Given the description of an element on the screen output the (x, y) to click on. 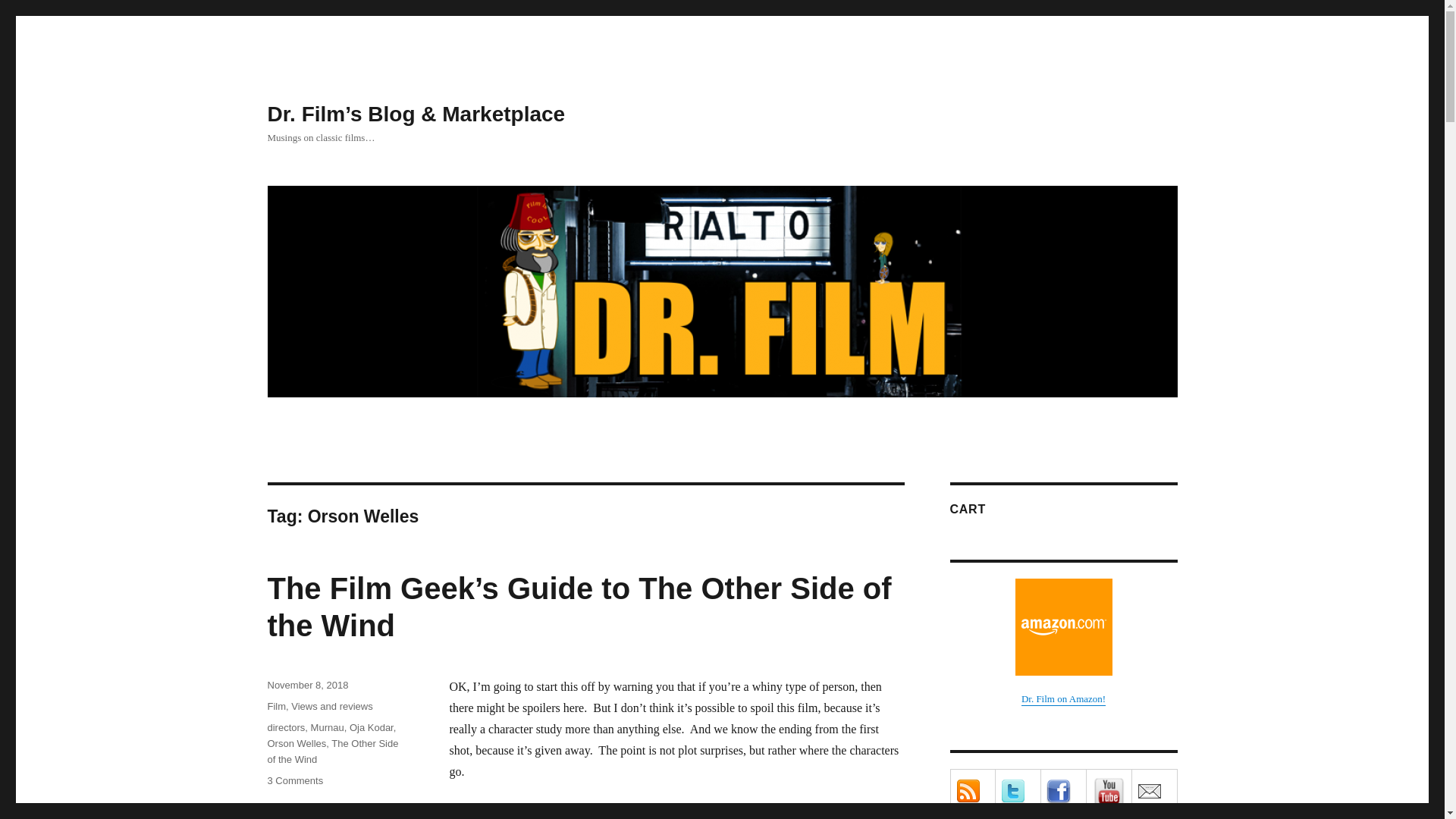
Oja Kodar (371, 727)
Dr. Film on Amazon! (1062, 641)
November 8, 2018 (306, 685)
directors (285, 727)
Views and reviews (331, 706)
The Other Side of the Wind (331, 750)
Film (275, 706)
Orson Welles (296, 743)
Murnau (327, 727)
